Given the description of an element on the screen output the (x, y) to click on. 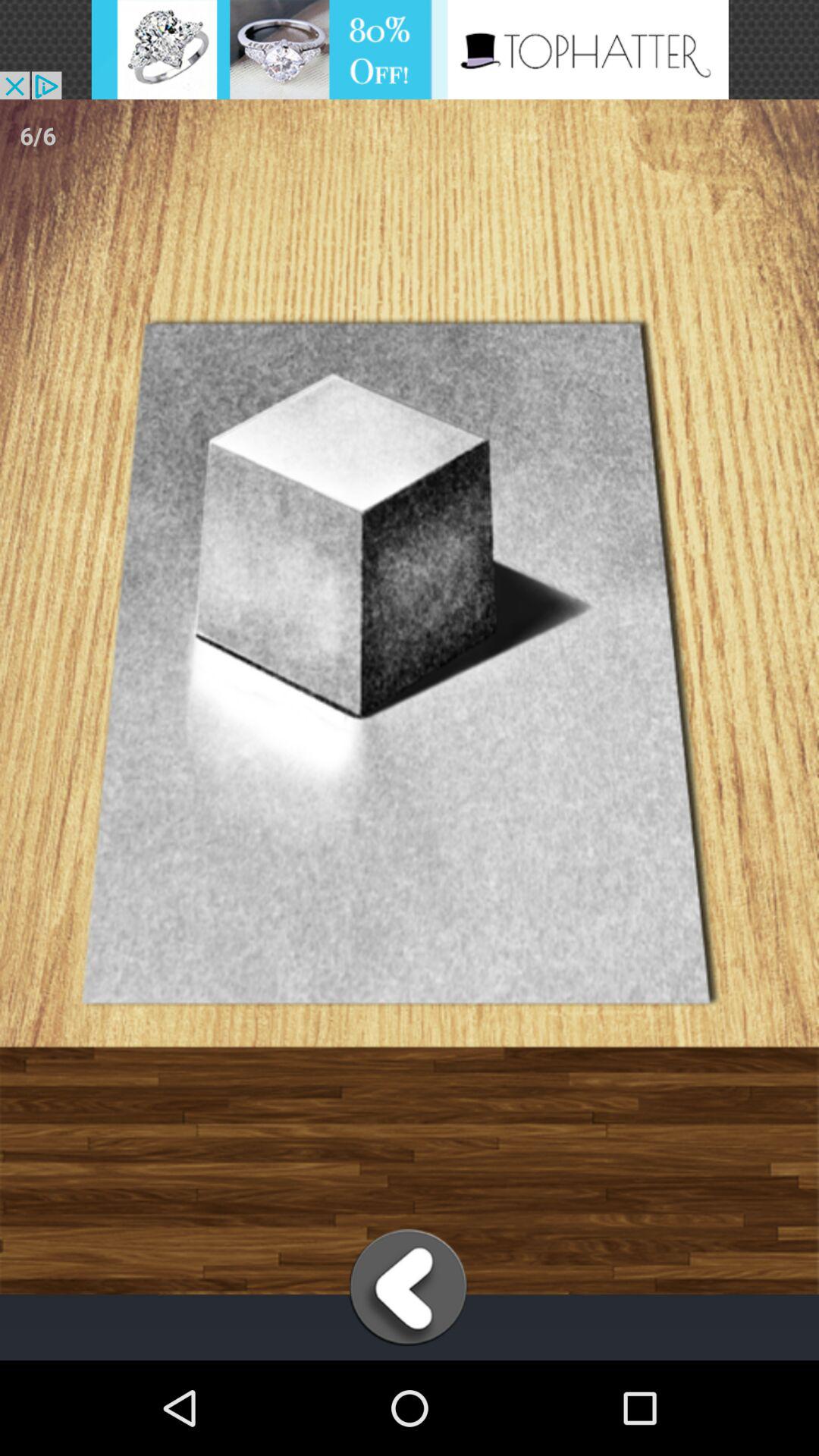
open the advertisement (409, 49)
